Given the description of an element on the screen output the (x, y) to click on. 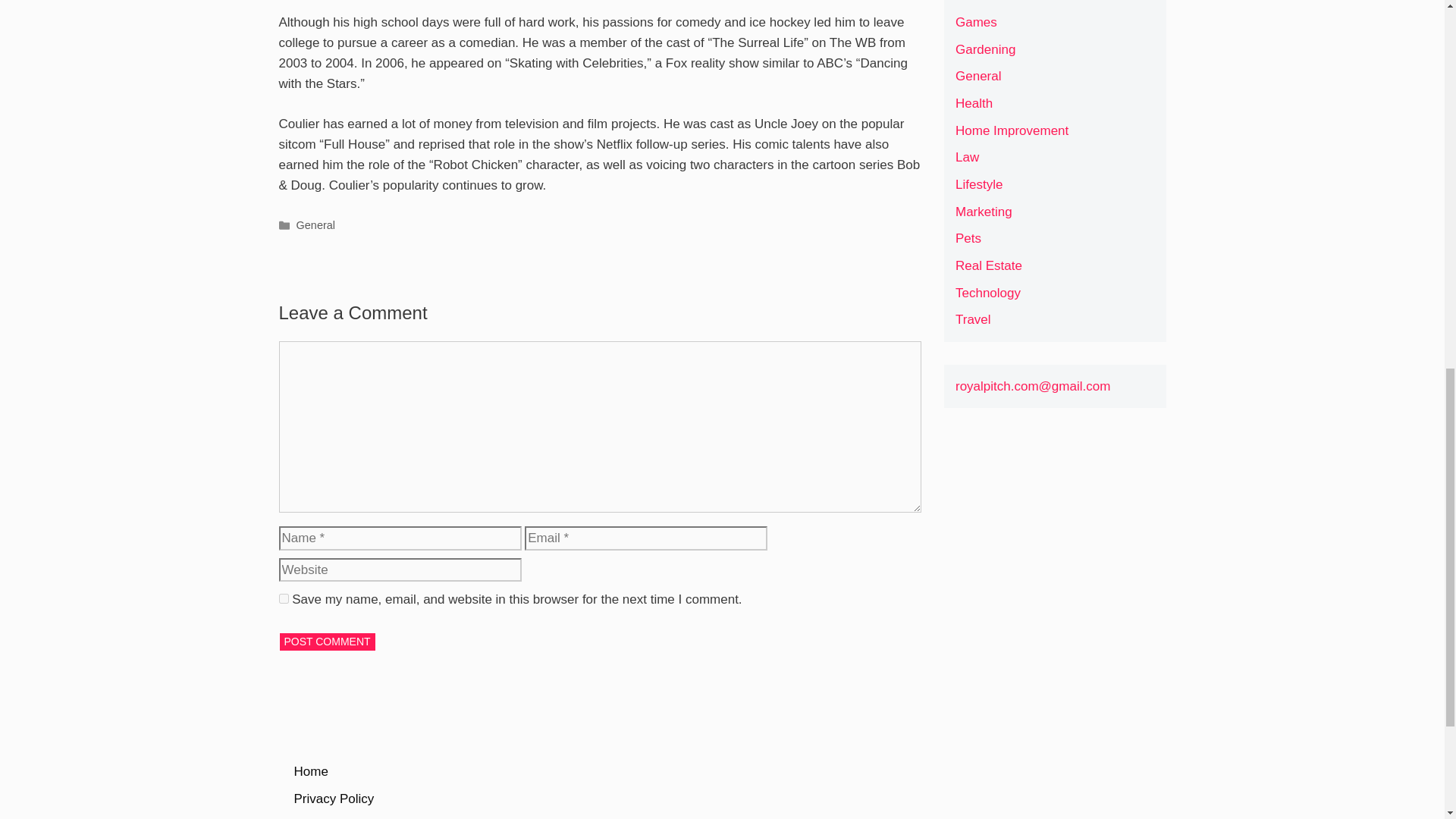
General (978, 75)
Food (970, 1)
Law (966, 156)
Home Improvement (1011, 130)
Marketing (983, 211)
yes (283, 598)
Post Comment (327, 641)
Lifestyle (979, 184)
Gardening (984, 49)
Post Comment (327, 641)
